Given the description of an element on the screen output the (x, y) to click on. 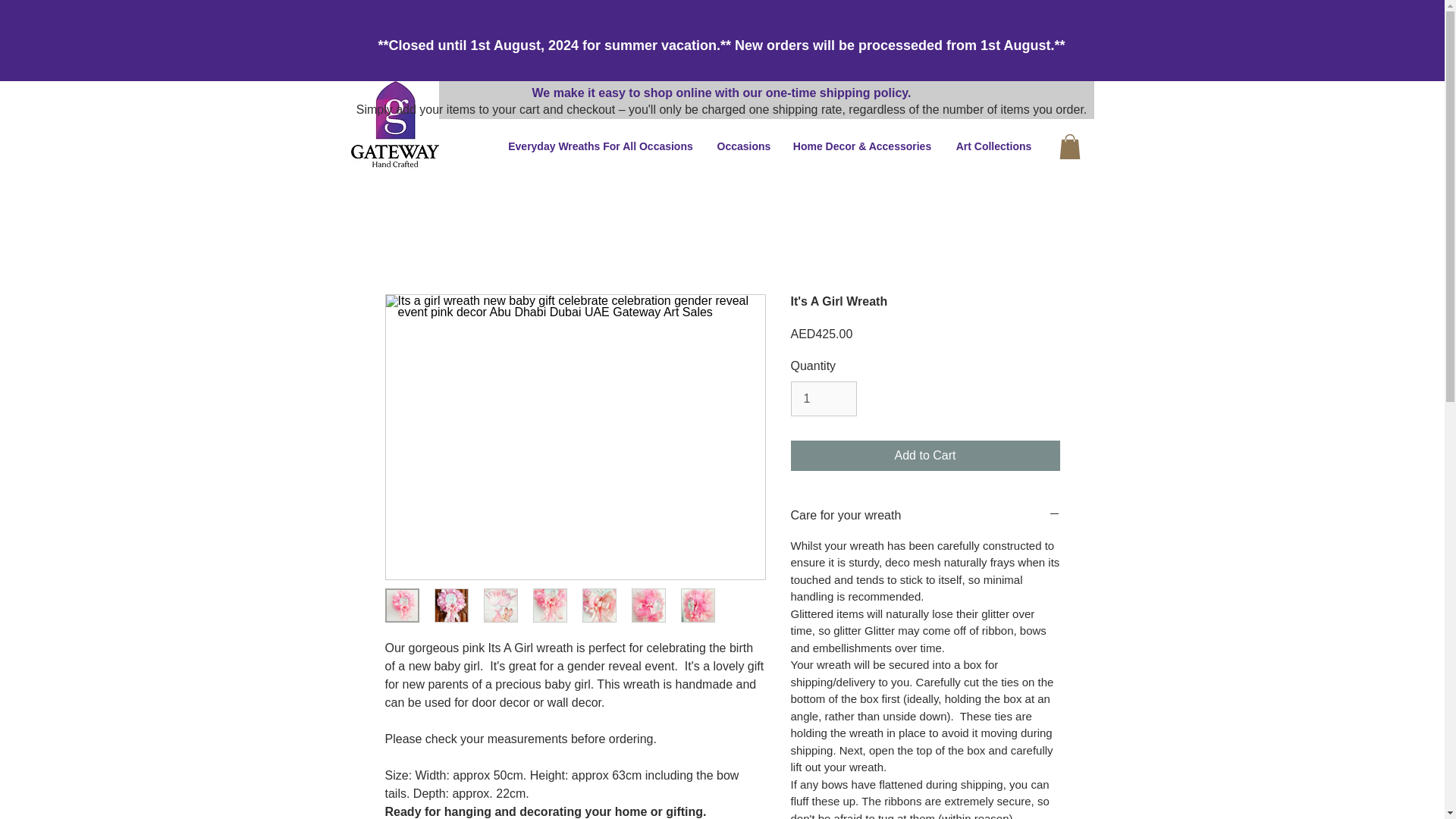
Occasions (742, 146)
1 (823, 398)
Everyday Wreaths For All Occasions (601, 146)
Art Collections (993, 146)
